Given the description of an element on the screen output the (x, y) to click on. 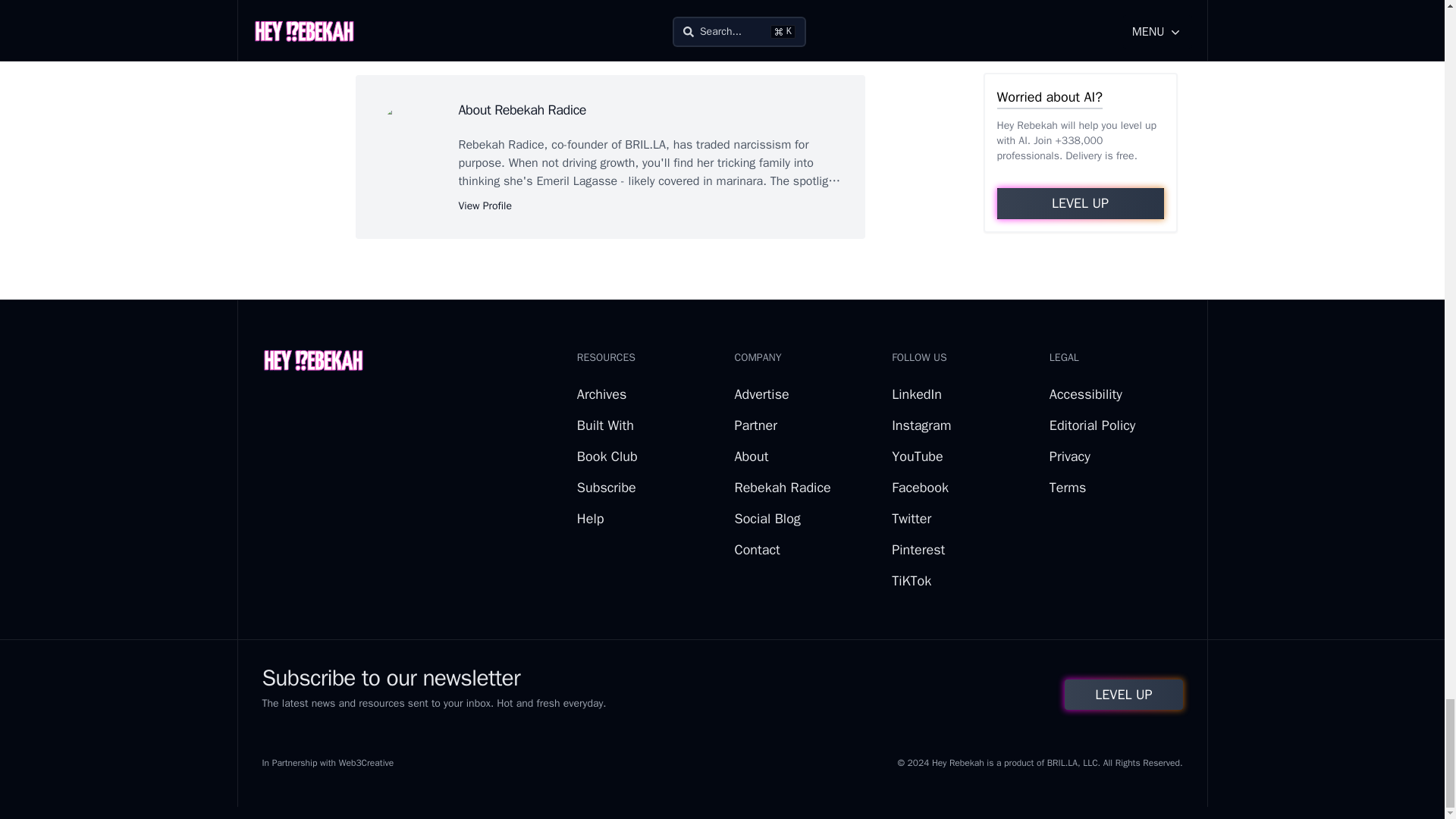
Archives (601, 393)
Book Club (606, 456)
About (750, 456)
Accessibility (1085, 393)
Instagram (920, 425)
VIEW ALL POSTS (609, 38)
Help (590, 518)
Advertise (761, 393)
Rebekah Radice (781, 487)
Contact (755, 549)
Built With (604, 425)
BRIL.LA (644, 144)
Social Blog (766, 518)
YouTube (917, 456)
Facebook (920, 487)
